Given the description of an element on the screen output the (x, y) to click on. 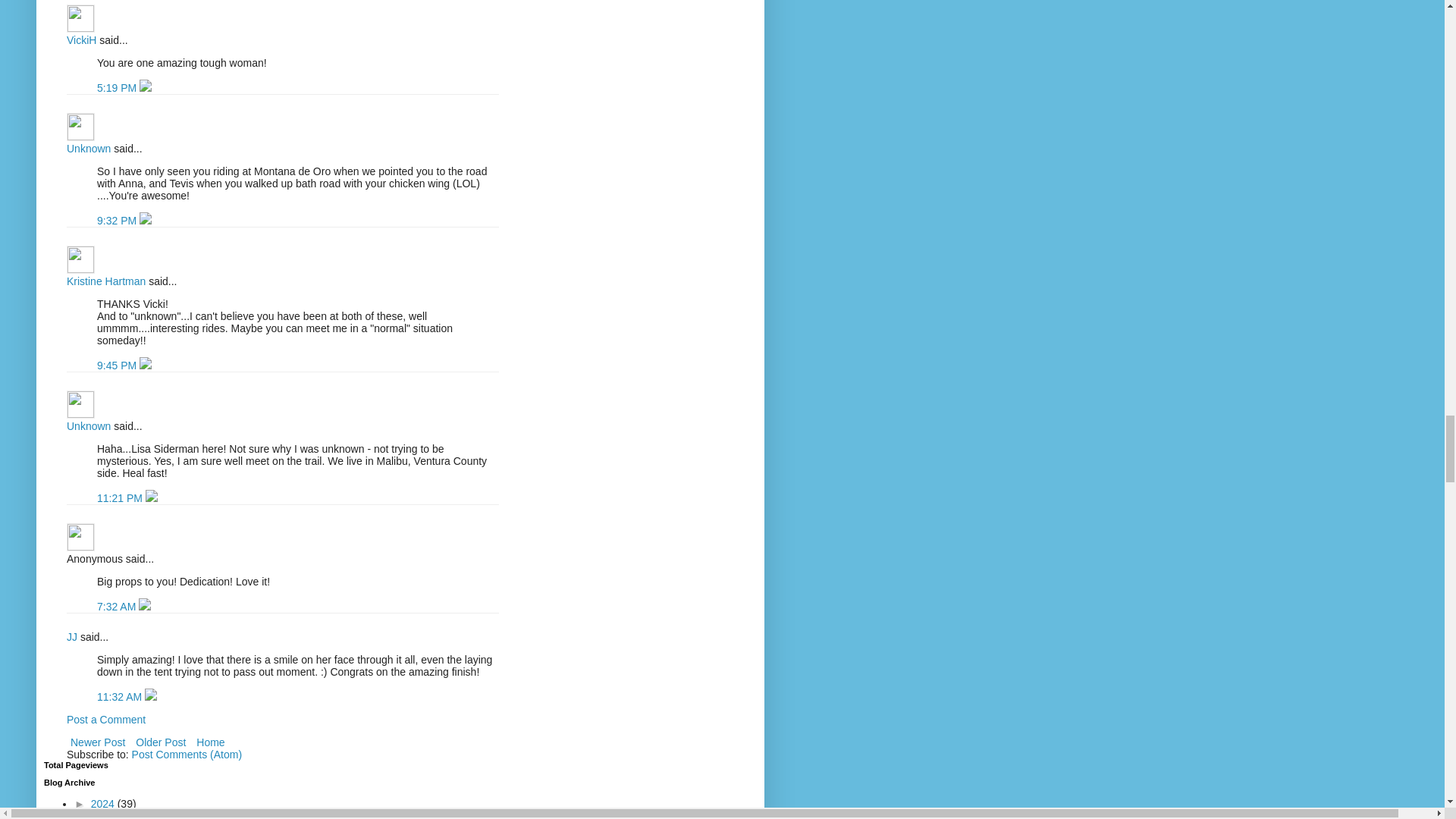
comment permalink (118, 220)
Unknown (80, 126)
9:32 PM (118, 220)
11:21 PM (121, 498)
7:32 AM (117, 606)
Unknown (88, 148)
Unknown (88, 426)
comment permalink (118, 87)
5:19 PM (118, 87)
Delete Comment (145, 87)
VickiH (81, 39)
9:45 PM (118, 365)
VickiH (80, 18)
Kristine Hartman (105, 281)
